Given the description of an element on the screen output the (x, y) to click on. 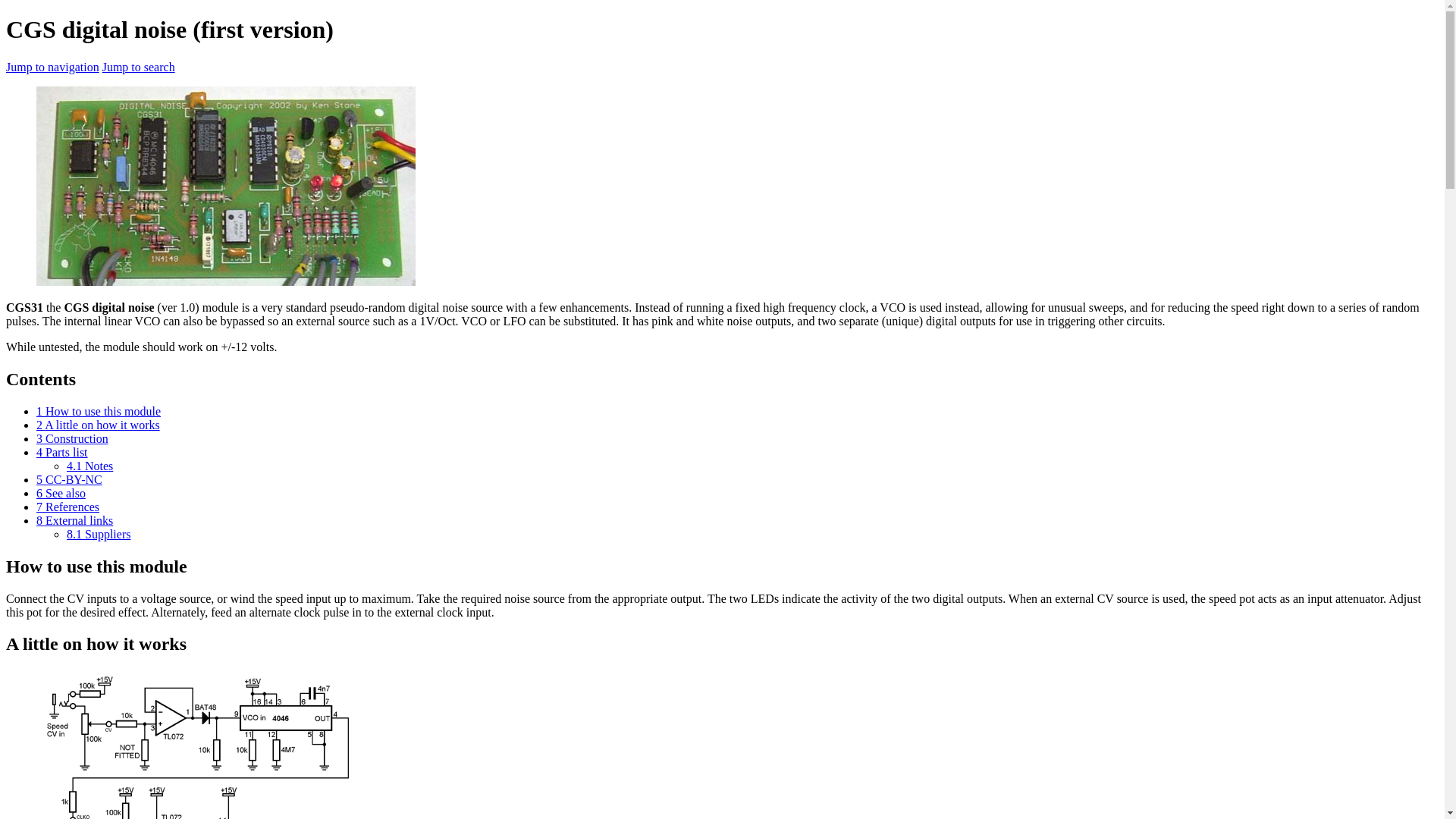
7 References (67, 506)
1 How to use this module (98, 410)
2 A little on how it works (98, 424)
6 See also (60, 492)
4.1 Notes (89, 465)
Jump to search (137, 66)
8 External links (74, 520)
3 Construction (71, 438)
8.1 Suppliers (98, 533)
5 CC-BY-NC (68, 479)
4 Parts list (61, 451)
Jump to navigation (52, 66)
